Given the description of an element on the screen output the (x, y) to click on. 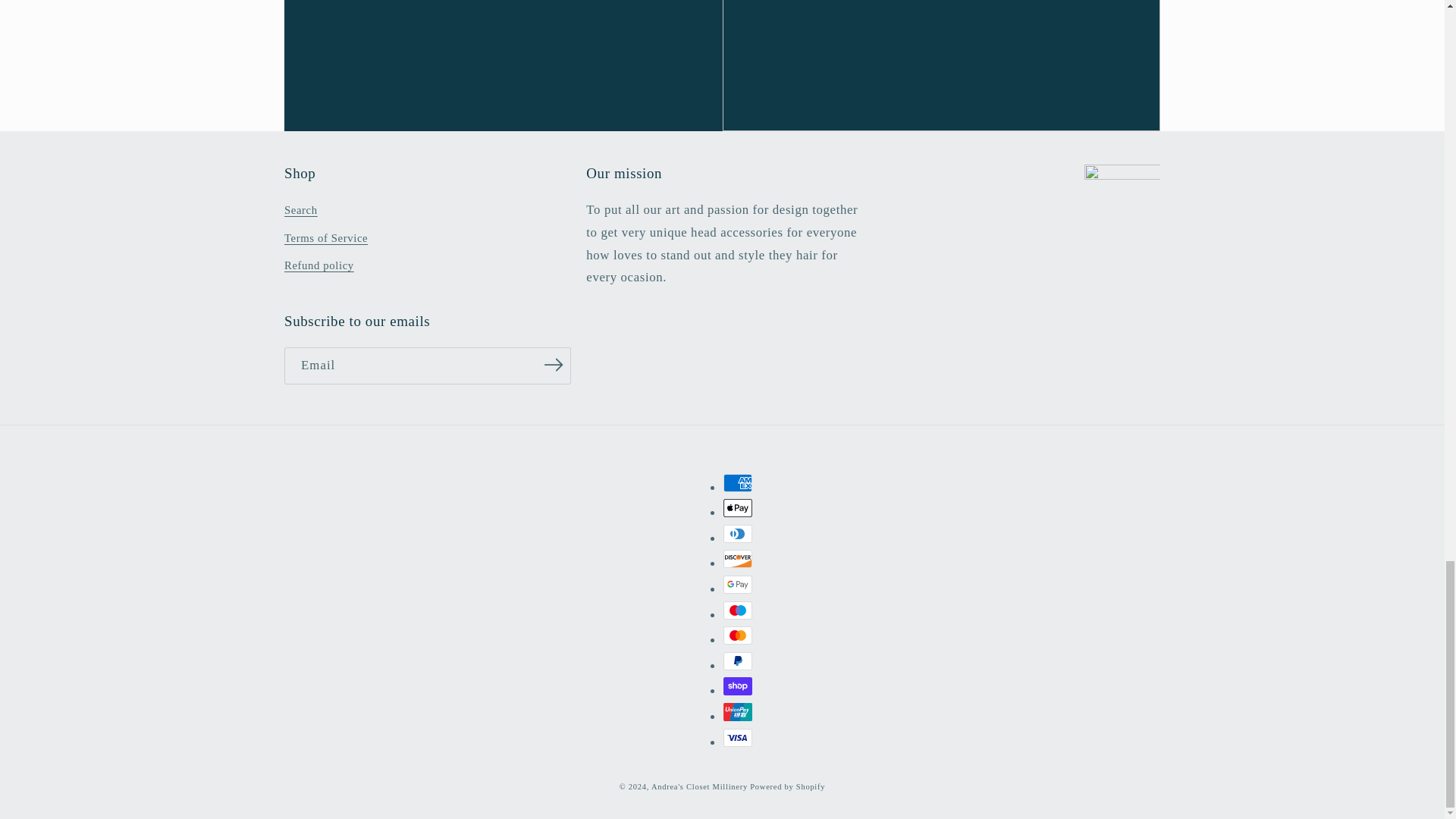
Maestro (737, 610)
Refund policy (318, 266)
Terms of Service (325, 237)
Andrea's Closet Millinery (699, 786)
Shop Pay (737, 686)
Google Pay (737, 584)
Mastercard (737, 635)
Discover (737, 558)
Diners Club (737, 533)
Visa (737, 737)
